Given the description of an element on the screen output the (x, y) to click on. 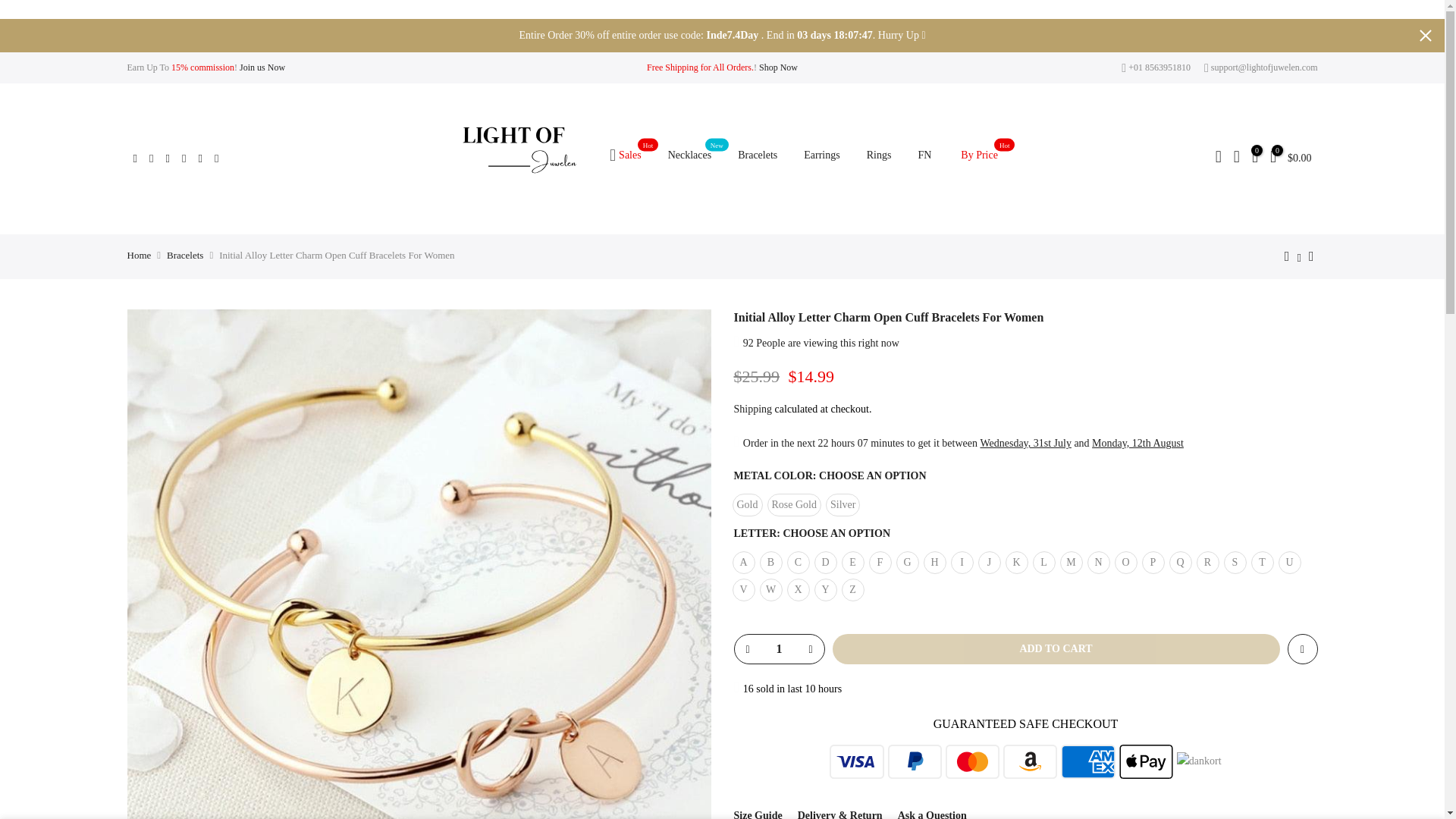
1 (689, 155)
Shop Now (778, 648)
Join us Now (777, 67)
